Given the description of an element on the screen output the (x, y) to click on. 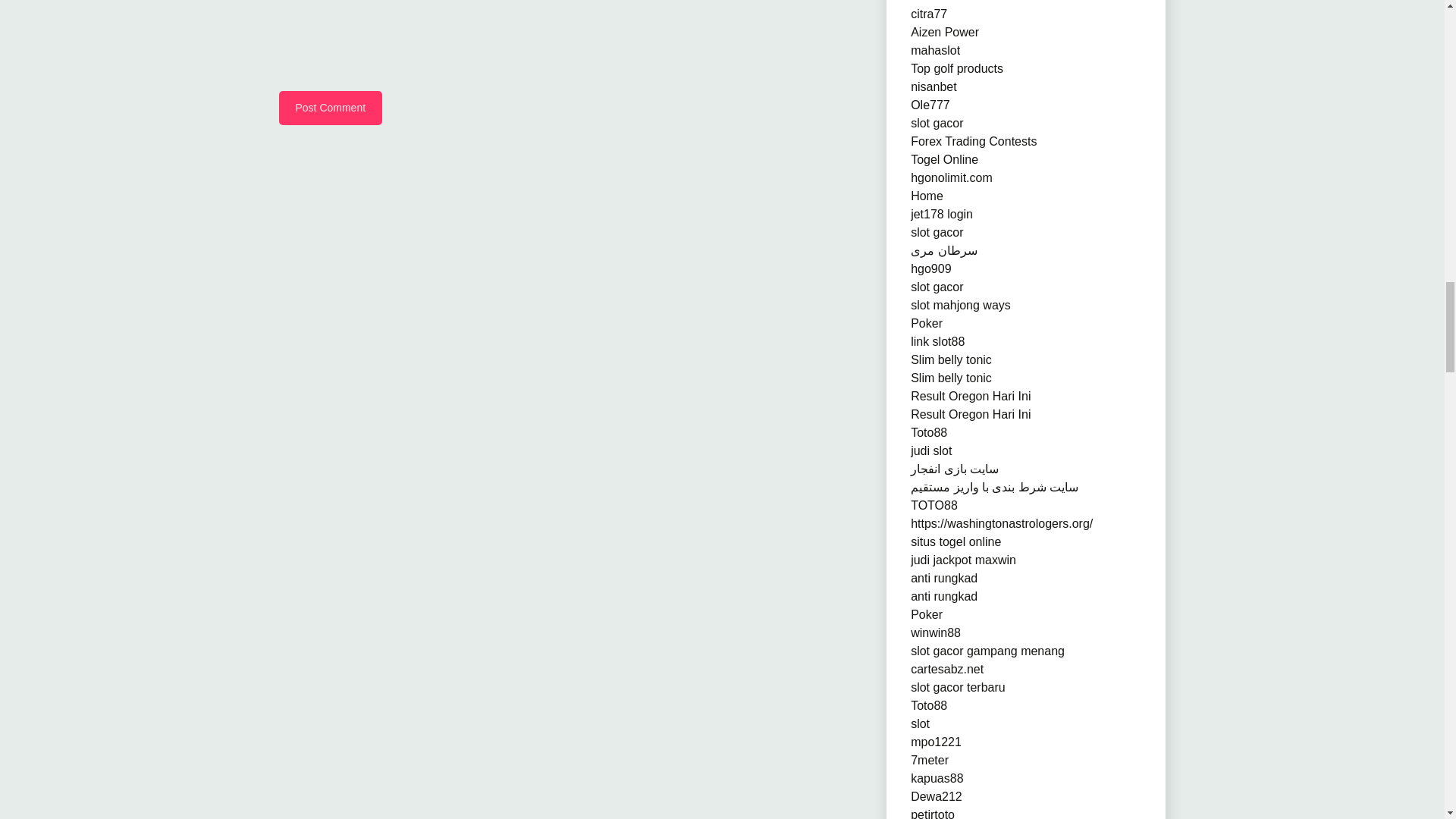
Post Comment (330, 107)
reCAPTCHA (394, 43)
nisanbet (933, 86)
Post Comment (330, 107)
